Given the description of an element on the screen output the (x, y) to click on. 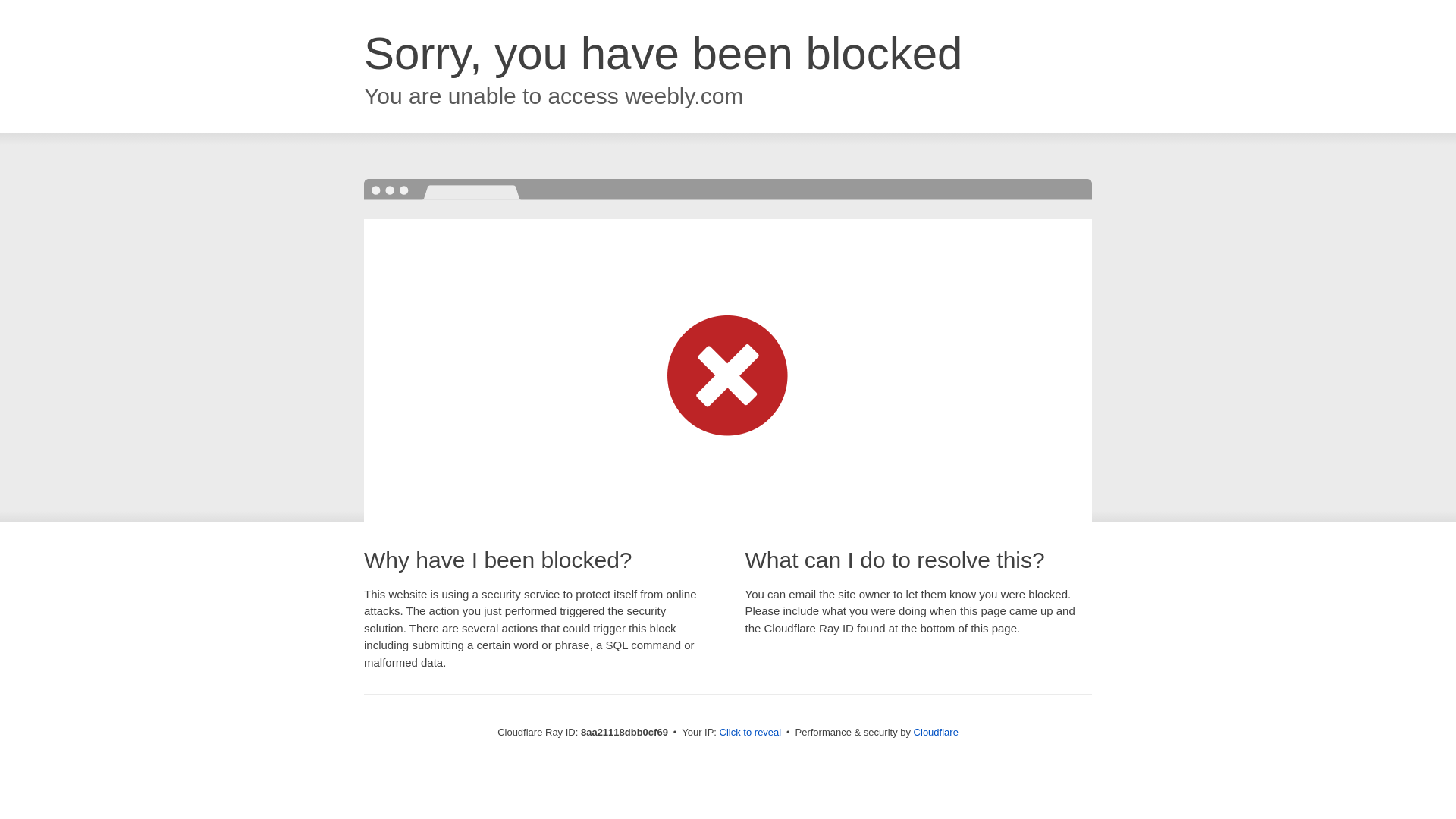
Click to reveal (750, 732)
Cloudflare (936, 731)
